Given the description of an element on the screen output the (x, y) to click on. 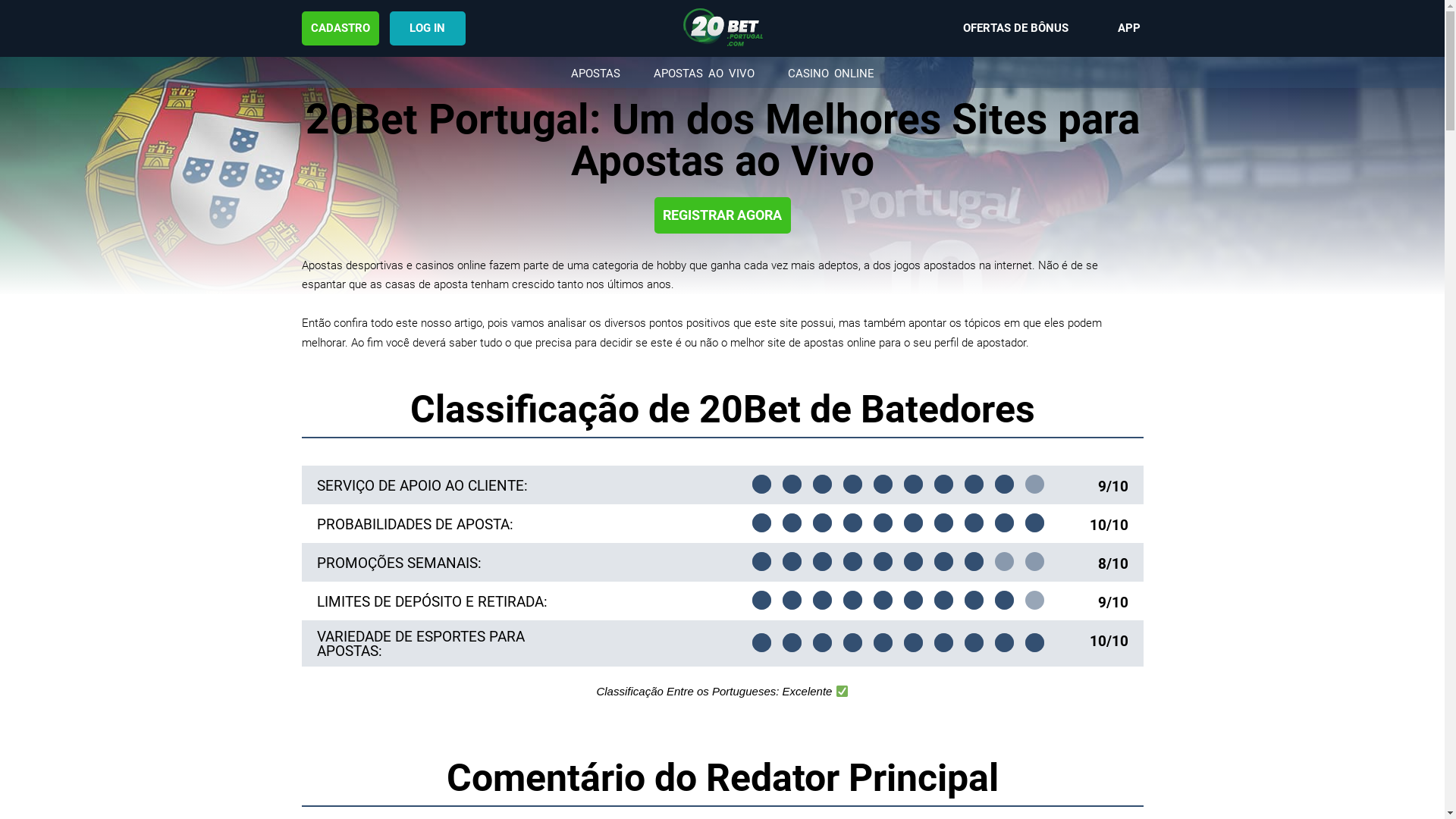
APOSTAS AO VIVO Element type: text (703, 72)
20Bet PT Element type: hover (722, 27)
CASINO ONLINE Element type: text (830, 72)
APOSTAS Element type: text (594, 72)
APP Element type: text (1128, 28)
LOG IN Element type: text (427, 28)
CADASTRO Element type: text (340, 28)
REGISTRAR AGORA Element type: text (721, 215)
